Given the description of an element on the screen output the (x, y) to click on. 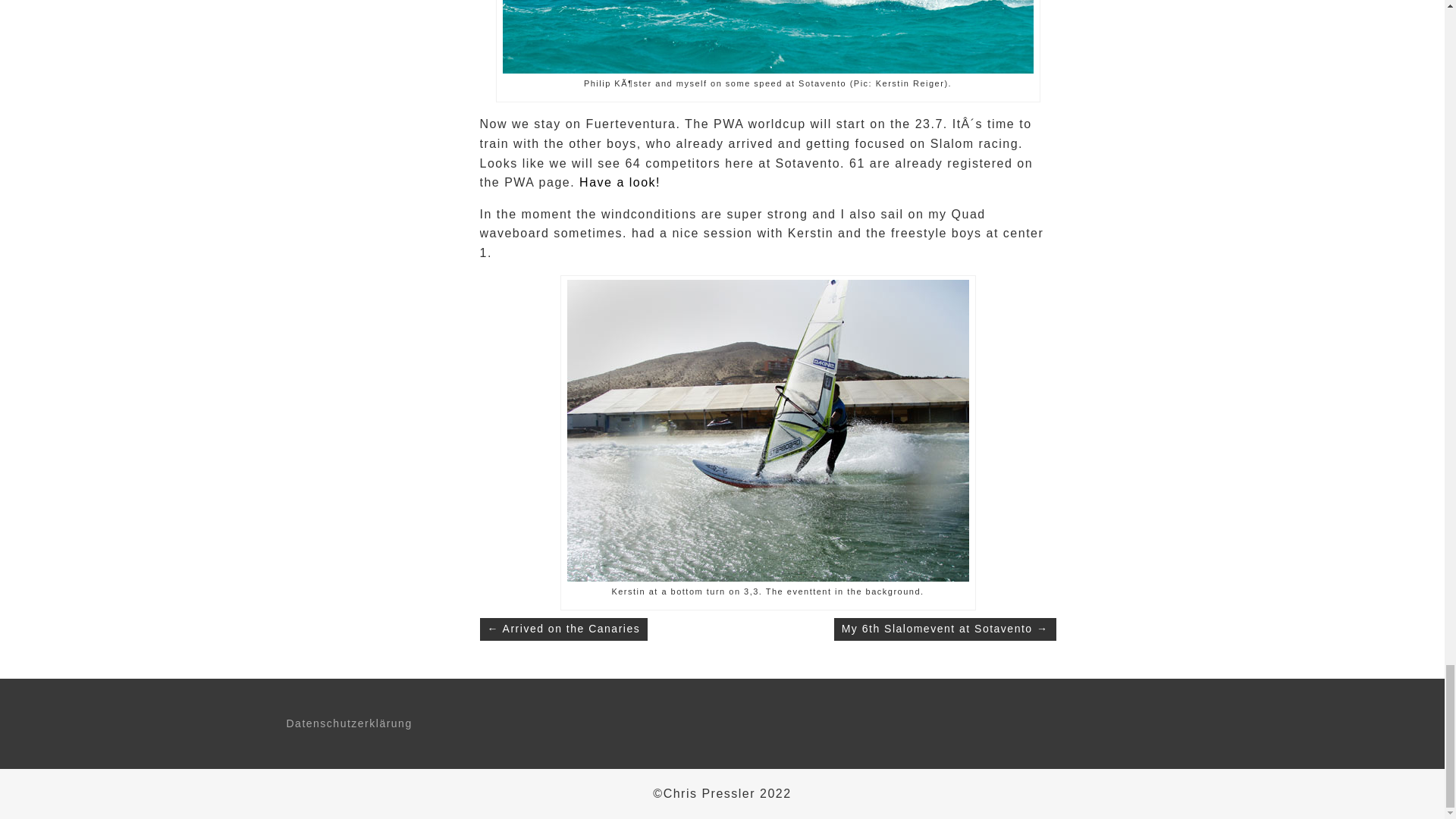
Have a look! (620, 182)
